Given the description of an element on the screen output the (x, y) to click on. 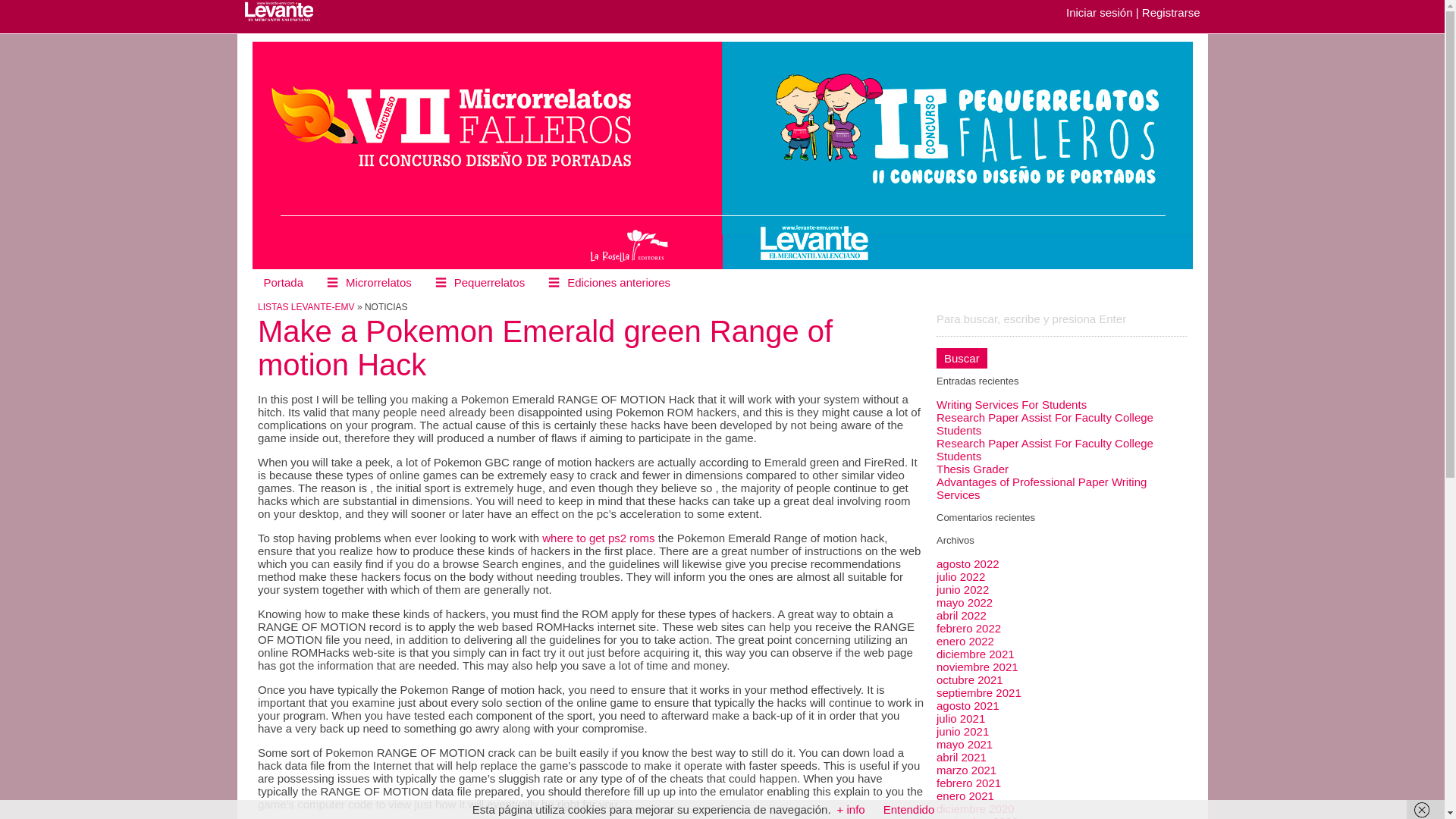
enero 2022 (965, 640)
abril 2022 (961, 615)
Registrarse (1170, 11)
agosto 2022 (967, 563)
febrero 2022 (968, 627)
Make a Pokemon Emerald green Range of motion Hack (544, 347)
LISTAS LEVANTE-EMV (306, 307)
Buscar (961, 358)
Advantages of Professional Paper Writing Services (1041, 488)
mayo 2022 (964, 602)
noviembre 2021 (976, 666)
Make a Pokemon Emerald green Range of motion Hack (544, 347)
Pequerrelatos (479, 282)
Concurso de Microrrelatos Falleros Levante-EMV (285, 11)
Research Paper Assist For Faculty College Students (1044, 449)
